Given the description of an element on the screen output the (x, y) to click on. 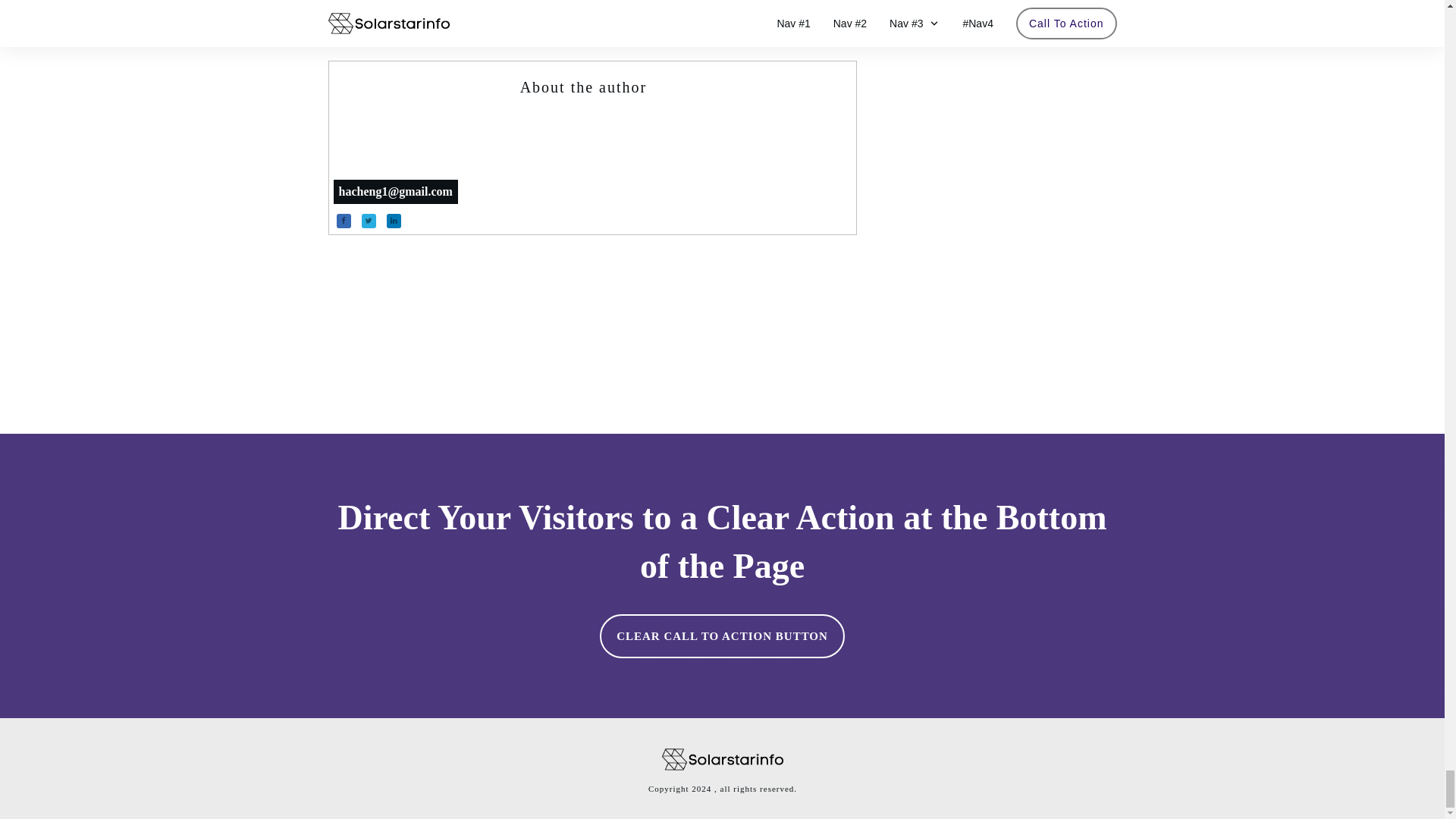
Next (798, 14)
CLEAR CALL TO ACTION BUTTON (721, 636)
Previous (385, 14)
